Given the description of an element on the screen output the (x, y) to click on. 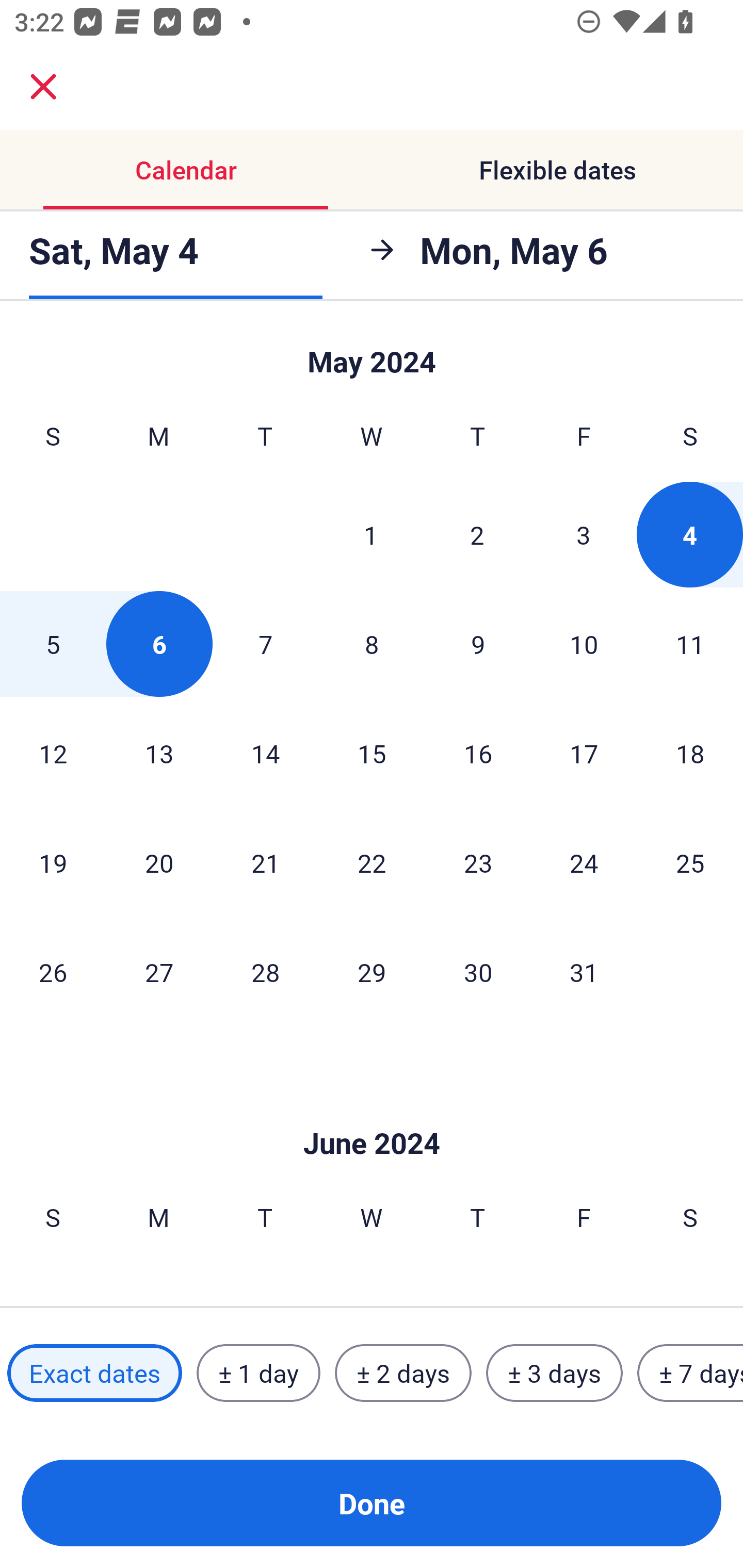
close. (43, 86)
Flexible dates (557, 170)
Skip to Done (371, 352)
1 Wednesday, May 1, 2024 (371, 534)
2 Thursday, May 2, 2024 (477, 534)
3 Friday, May 3, 2024 (583, 534)
7 Tuesday, May 7, 2024 (265, 643)
8 Wednesday, May 8, 2024 (371, 643)
9 Thursday, May 9, 2024 (477, 643)
10 Friday, May 10, 2024 (584, 643)
11 Saturday, May 11, 2024 (690, 643)
12 Sunday, May 12, 2024 (53, 752)
13 Monday, May 13, 2024 (159, 752)
14 Tuesday, May 14, 2024 (265, 752)
15 Wednesday, May 15, 2024 (371, 752)
16 Thursday, May 16, 2024 (477, 752)
17 Friday, May 17, 2024 (584, 752)
18 Saturday, May 18, 2024 (690, 752)
19 Sunday, May 19, 2024 (53, 862)
20 Monday, May 20, 2024 (159, 862)
21 Tuesday, May 21, 2024 (265, 862)
22 Wednesday, May 22, 2024 (371, 862)
23 Thursday, May 23, 2024 (477, 862)
24 Friday, May 24, 2024 (584, 862)
25 Saturday, May 25, 2024 (690, 862)
26 Sunday, May 26, 2024 (53, 971)
27 Monday, May 27, 2024 (159, 971)
28 Tuesday, May 28, 2024 (265, 971)
29 Wednesday, May 29, 2024 (371, 971)
30 Thursday, May 30, 2024 (477, 971)
31 Friday, May 31, 2024 (584, 971)
Skip to Done (371, 1112)
Exact dates (94, 1372)
± 1 day (258, 1372)
± 2 days (403, 1372)
± 3 days (553, 1372)
± 7 days (690, 1372)
Done (371, 1502)
